Given the description of an element on the screen output the (x, y) to click on. 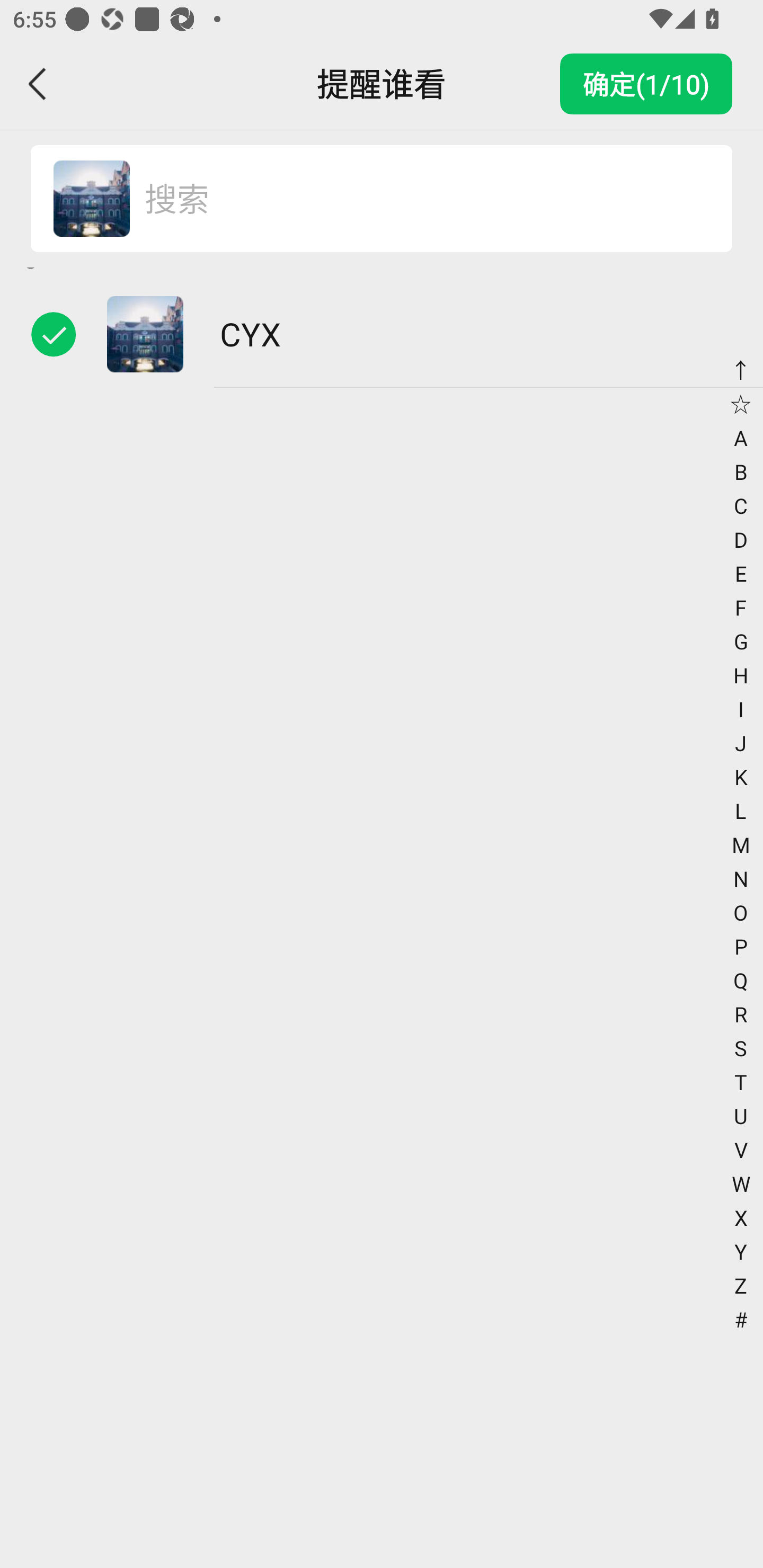
返回 (38, 83)
确定(1/10) (646, 83)
CYX (91, 198)
搜索 (418, 198)
CYX (381, 333)
